Given the description of an element on the screen output the (x, y) to click on. 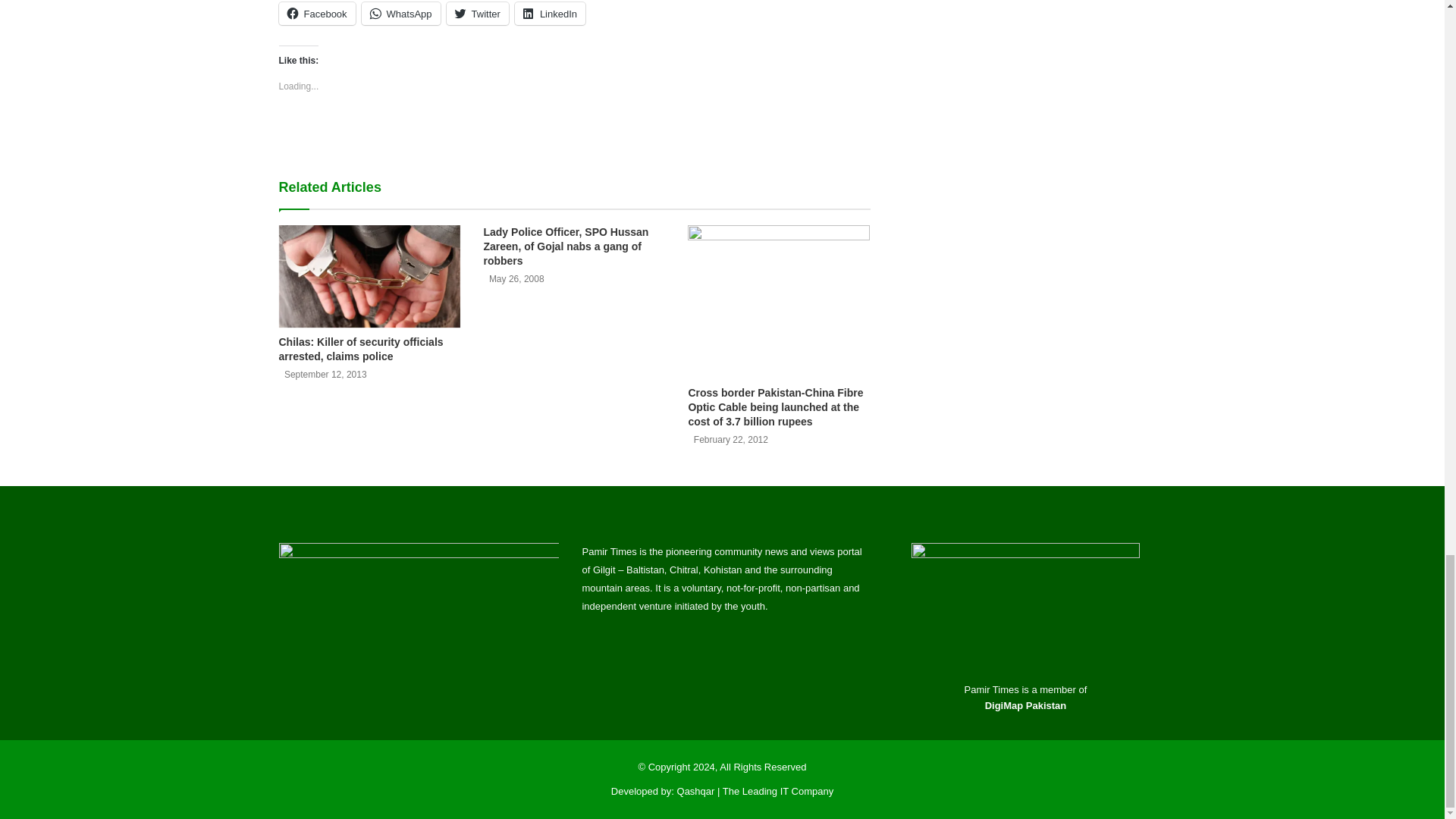
WhatsApp (401, 13)
Click to share on Facebook (317, 13)
Click to share on Twitter (477, 13)
Facebook (317, 13)
Click to share on WhatsApp (401, 13)
Click to share on LinkedIn (550, 13)
Twitter (477, 13)
LinkedIn (550, 13)
